Given the description of an element on the screen output the (x, y) to click on. 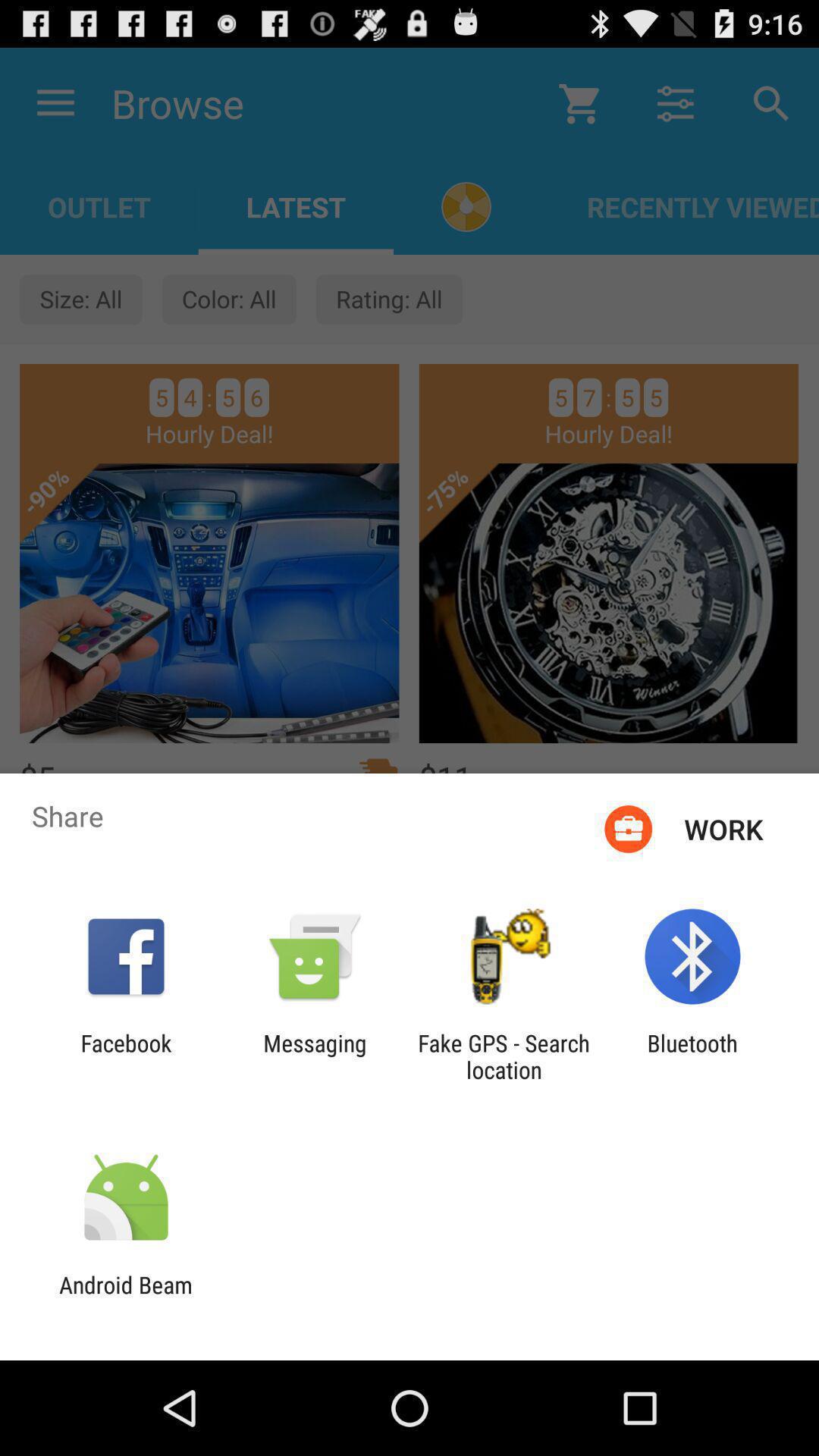
turn on app to the right of messaging item (503, 1056)
